Given the description of an element on the screen output the (x, y) to click on. 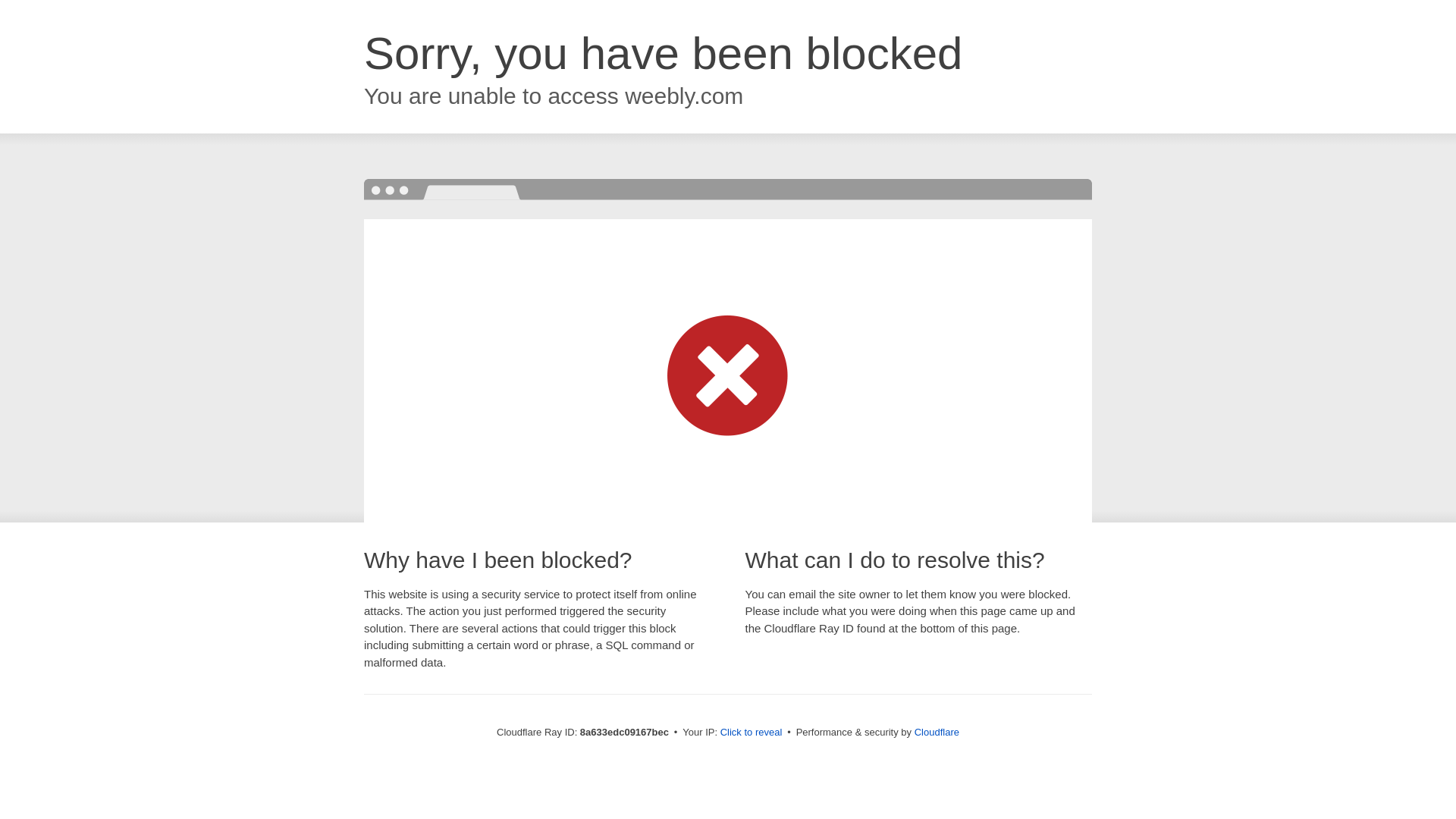
Click to reveal (751, 732)
Cloudflare (936, 731)
